Given the description of an element on the screen output the (x, y) to click on. 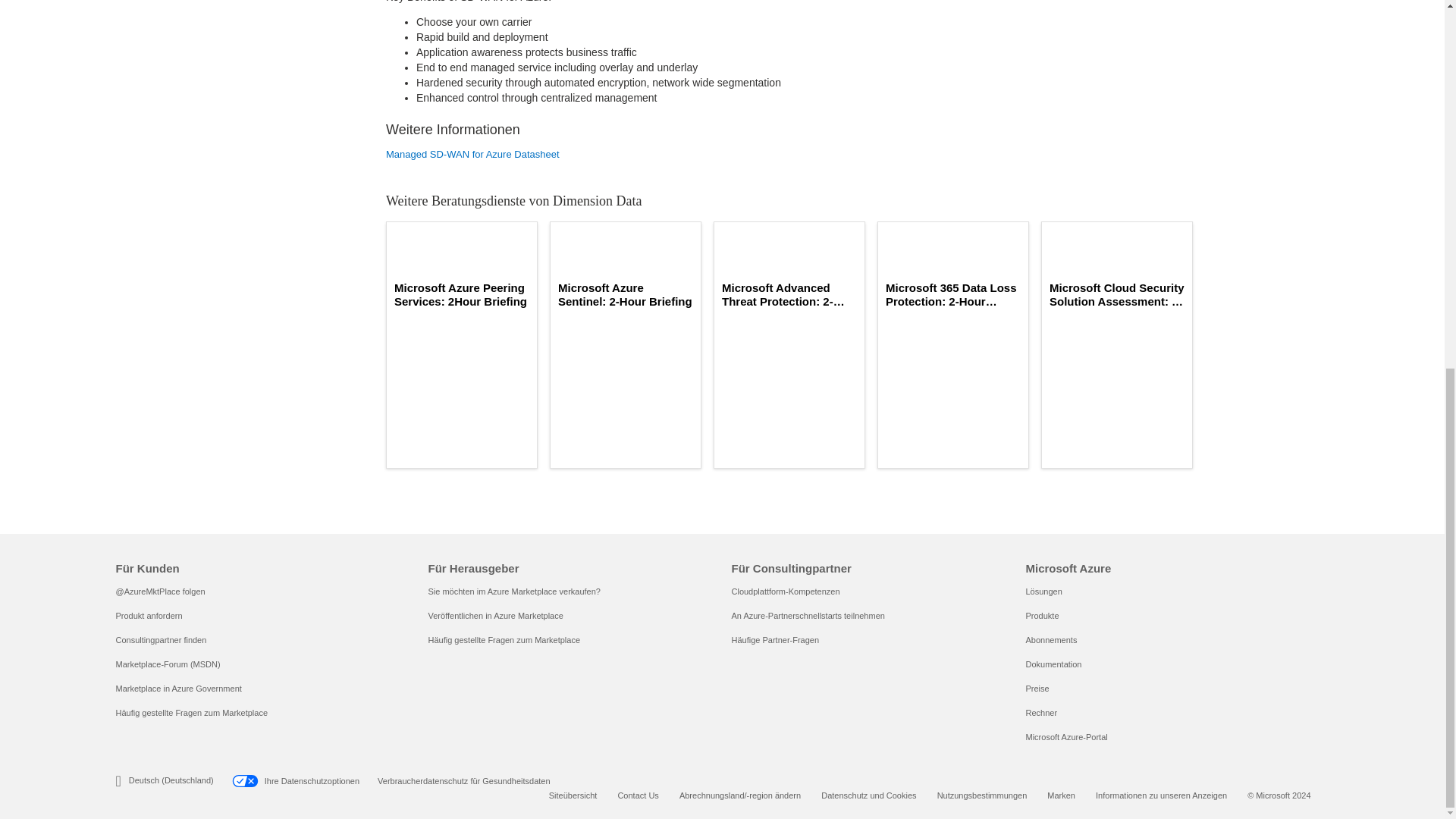
Microsoft Azure Sentinel: 2-Hour Briefing (625, 294)
Microsoft 365 Data Loss Protection: 2-Hour Briefing (952, 294)
Microsoft Azure Peering Services: 2Hour Briefing (461, 294)
Microsoft Advanced Threat Protection: 2-Hour Briefing (789, 294)
